Given the description of an element on the screen output the (x, y) to click on. 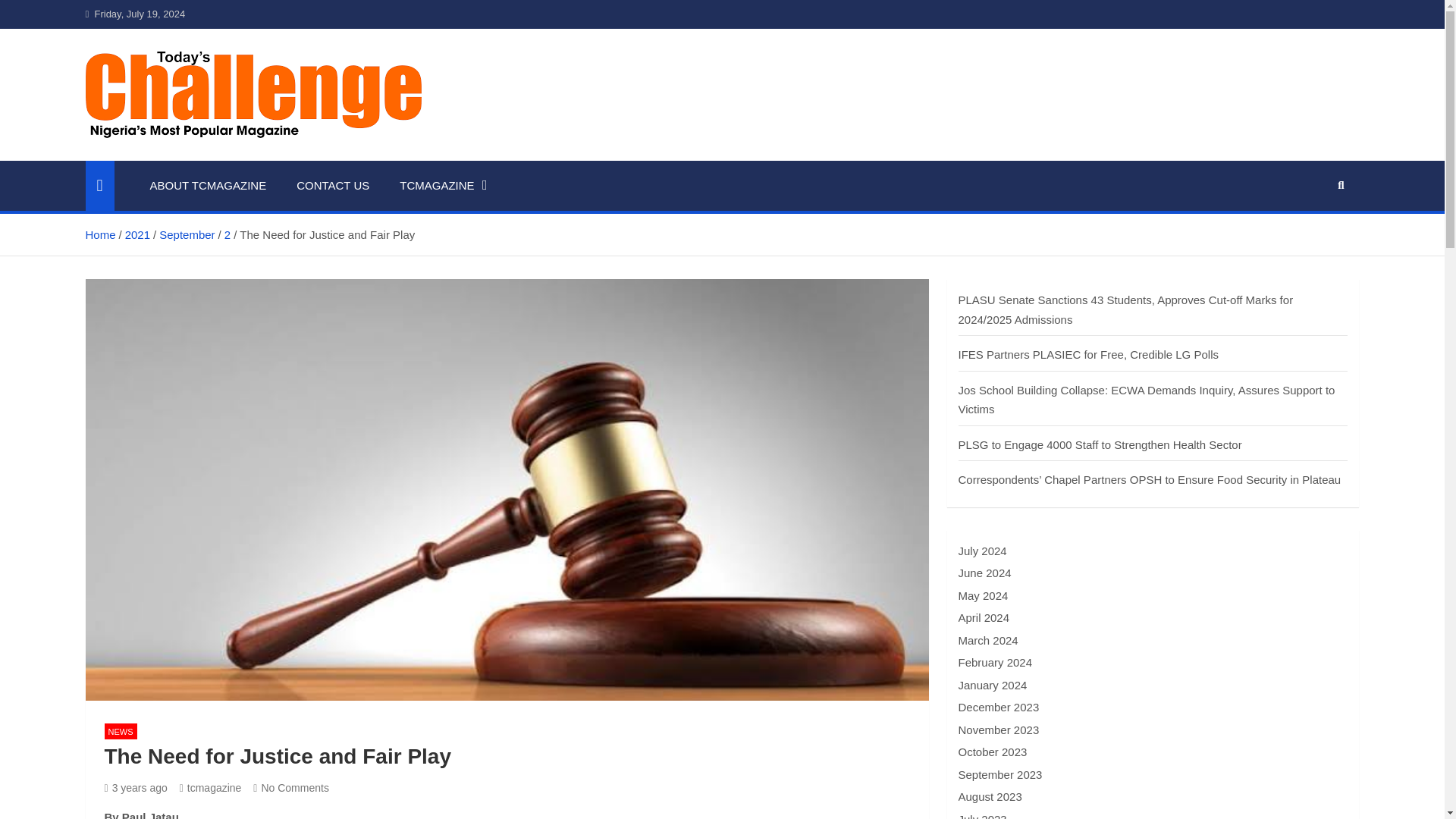
ABOUT TCMAGAZINE (208, 185)
TCMAGAZINE (443, 185)
IFES Partners PLASIEC for Free, Credible LG Polls (1088, 354)
May 2024 (983, 594)
June 2024 (984, 572)
2021 (137, 234)
September (186, 234)
December 2023 (998, 707)
3 years ago (135, 787)
CONTACT US (332, 185)
No Comments (291, 787)
tcmagazine (210, 787)
January 2024 (992, 684)
April 2024 (984, 617)
NEWS (120, 731)
